Given the description of an element on the screen output the (x, y) to click on. 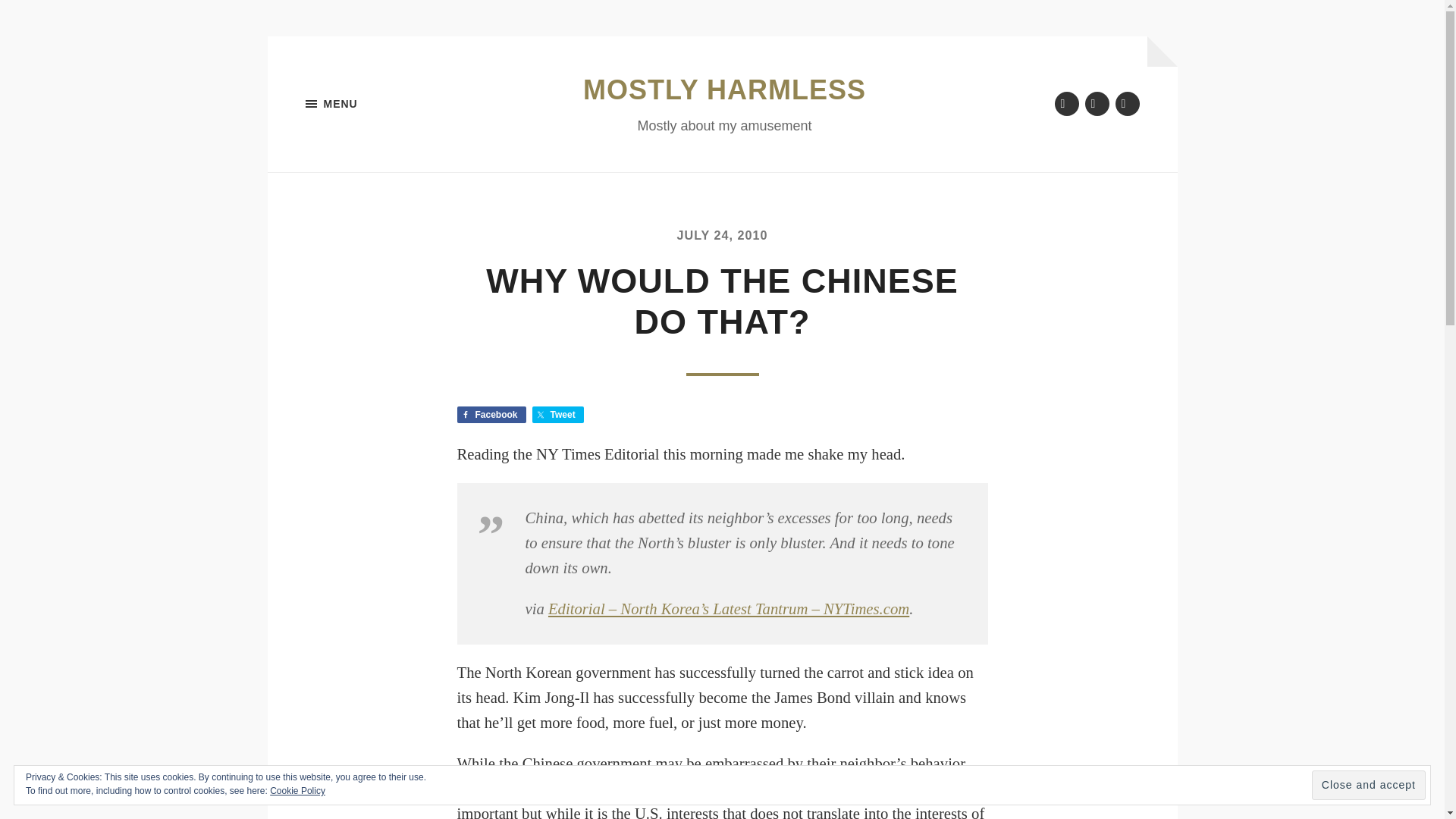
Flickr (1096, 103)
MOSTLY HARMLESS (724, 89)
Twitter (1066, 103)
Facebook (491, 414)
Tweet (557, 414)
Close and accept (1368, 785)
JULY 24, 2010 (722, 234)
Share on Facebook (491, 414)
Share on Twitter (557, 414)
MENU (380, 103)
Mastodon (1126, 103)
